Given the description of an element on the screen output the (x, y) to click on. 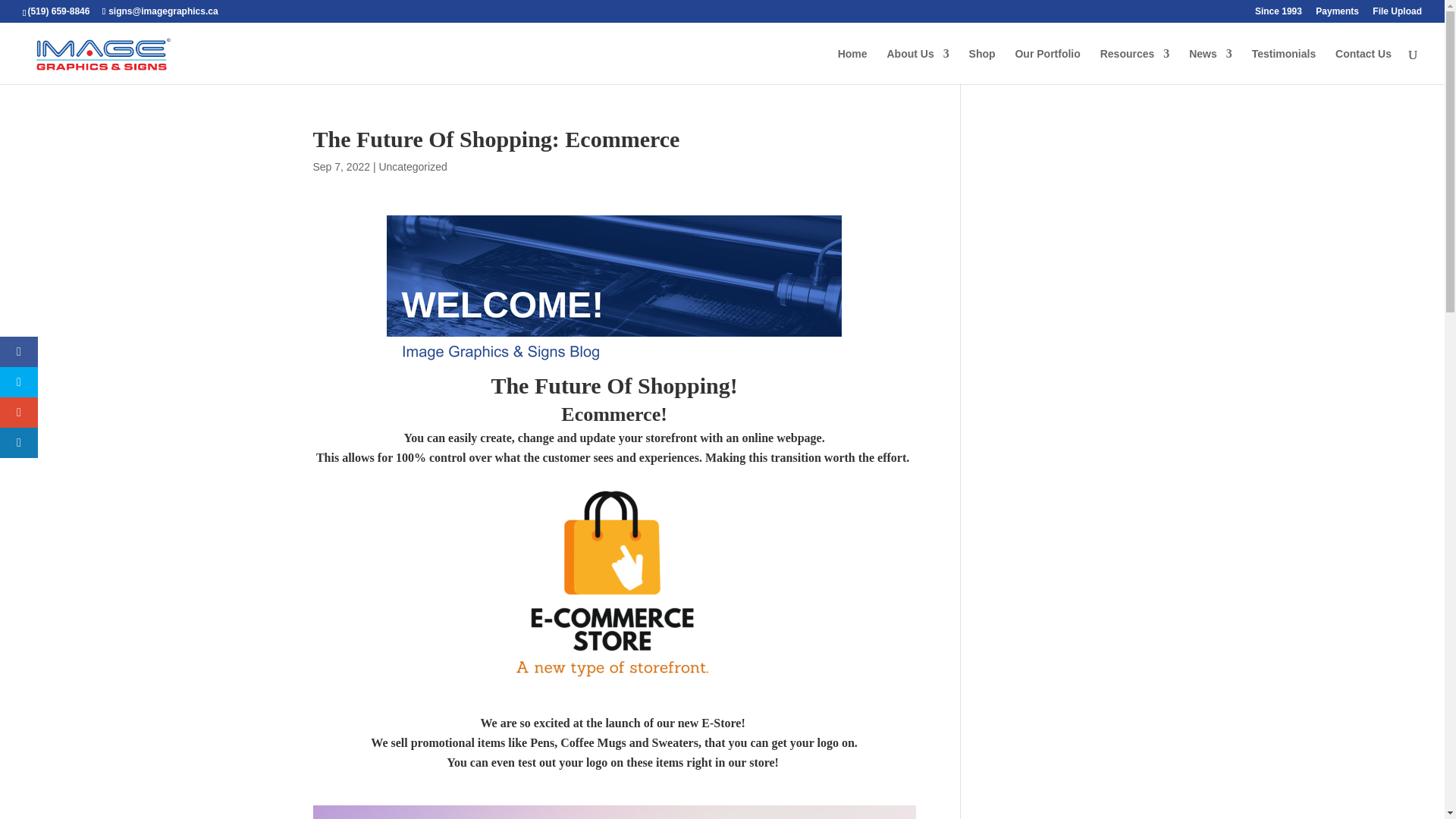
Our Portfolio (1047, 66)
Uncategorized (412, 166)
Since 1993 (1278, 14)
Payments (1337, 14)
Testimonials (1284, 66)
Resources (1135, 66)
File Upload (1397, 14)
Contact Us (1363, 66)
About Us (917, 66)
News (1210, 66)
